Given the description of an element on the screen output the (x, y) to click on. 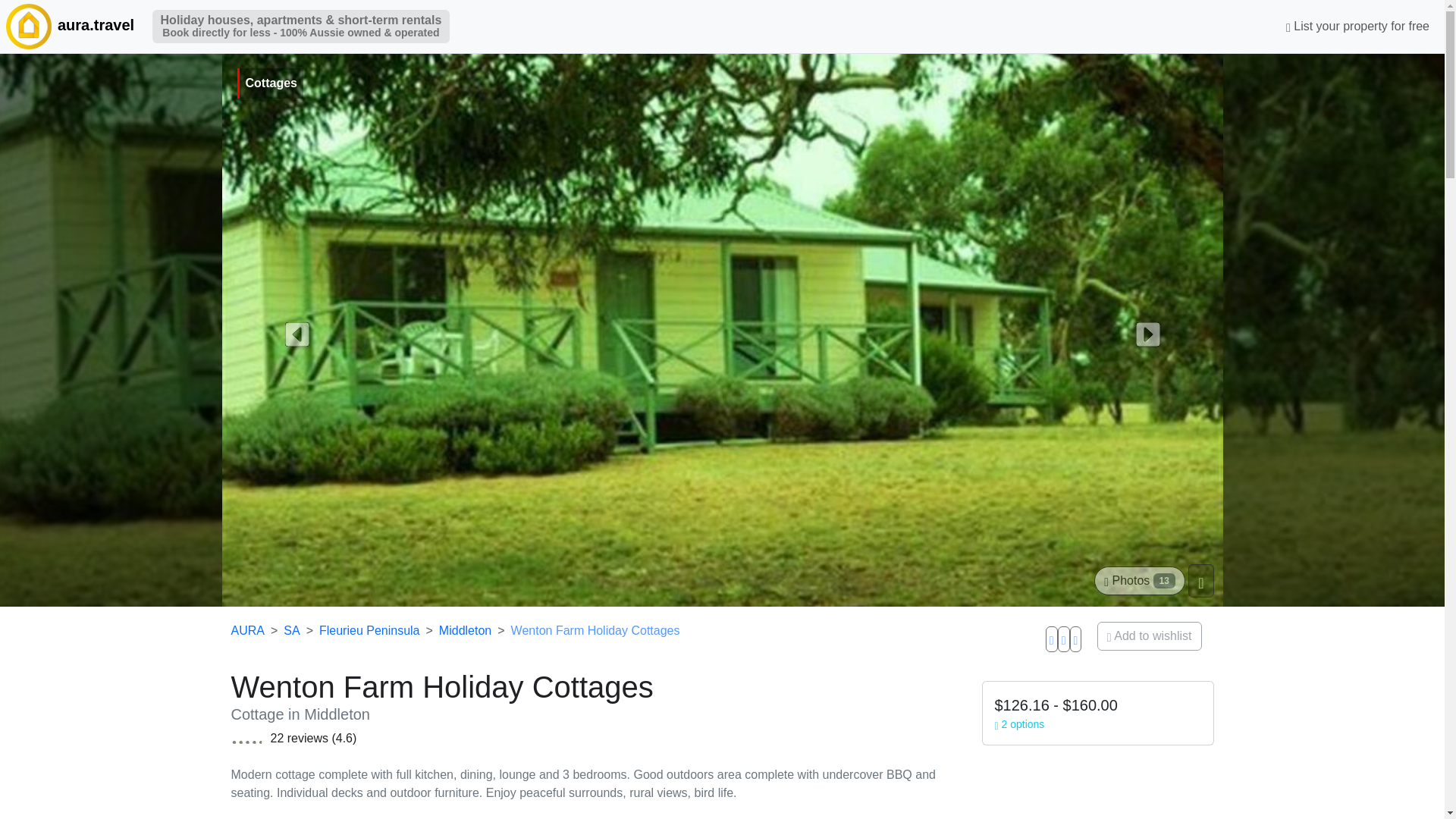
SA (291, 630)
Fleurieu Peninsula (369, 630)
AURA (246, 630)
Add to wishlist (1149, 635)
Photos 13 (1139, 580)
Holiday rentals (70, 26)
AURA (26, 26)
Middleton (465, 630)
aura.travel (70, 26)
Wenton Farm Holiday Cottages (595, 630)
List your property for free (1357, 26)
